Given the description of an element on the screen output the (x, y) to click on. 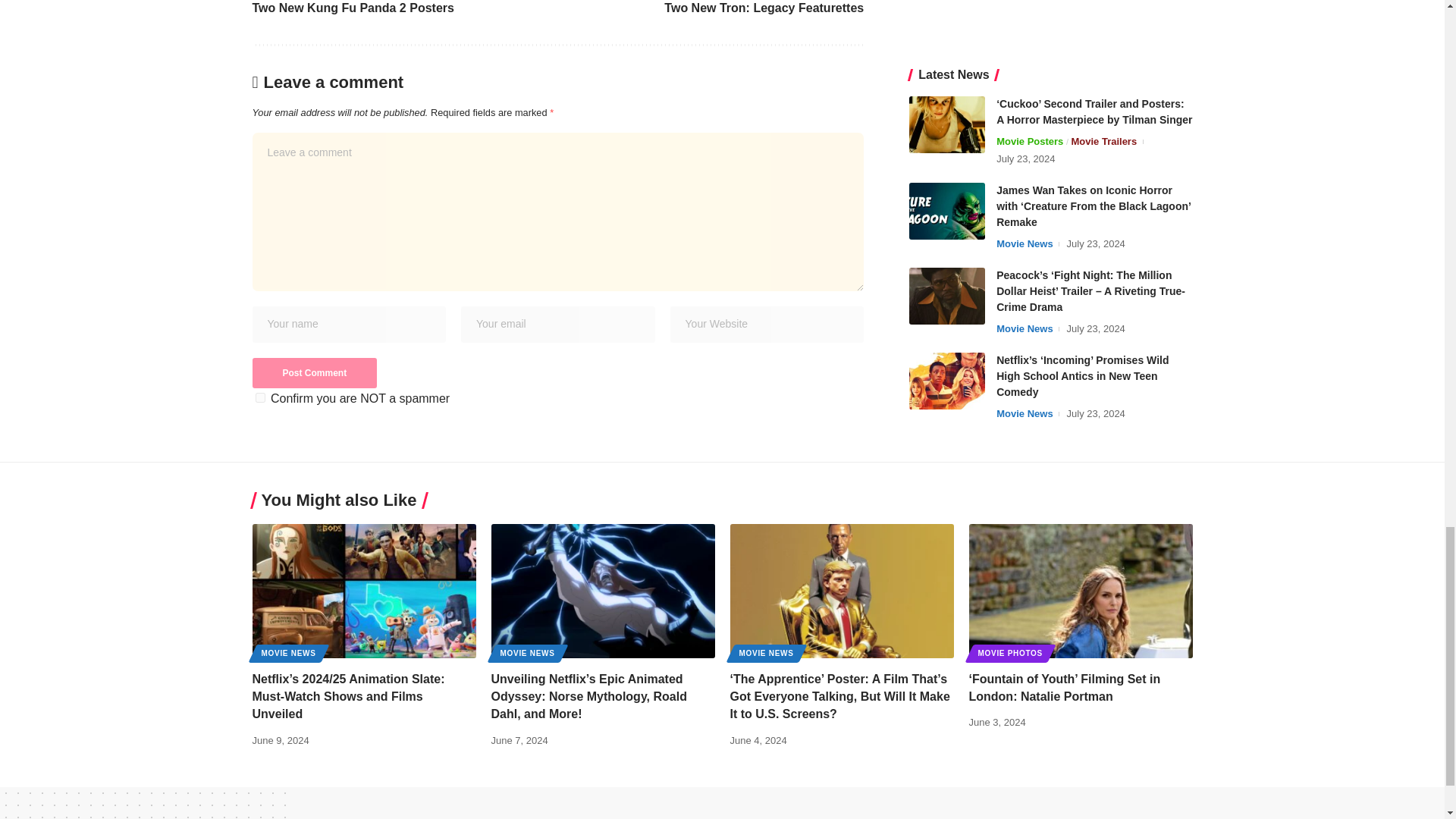
on (259, 397)
Post Comment (314, 372)
